Given the description of an element on the screen output the (x, y) to click on. 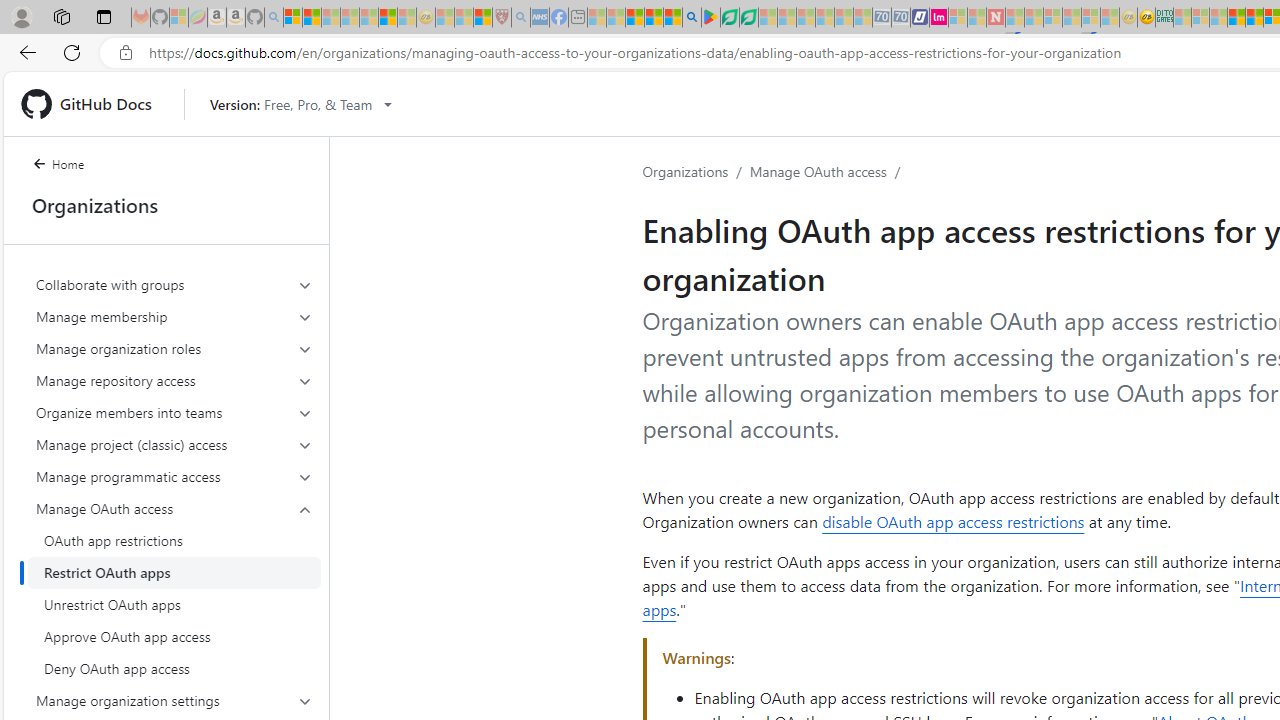
Unrestrict OAuth apps (174, 604)
Manage organization settings (174, 700)
MSNBC - MSN - Sleeping (1182, 17)
